Given the description of an element on the screen output the (x, y) to click on. 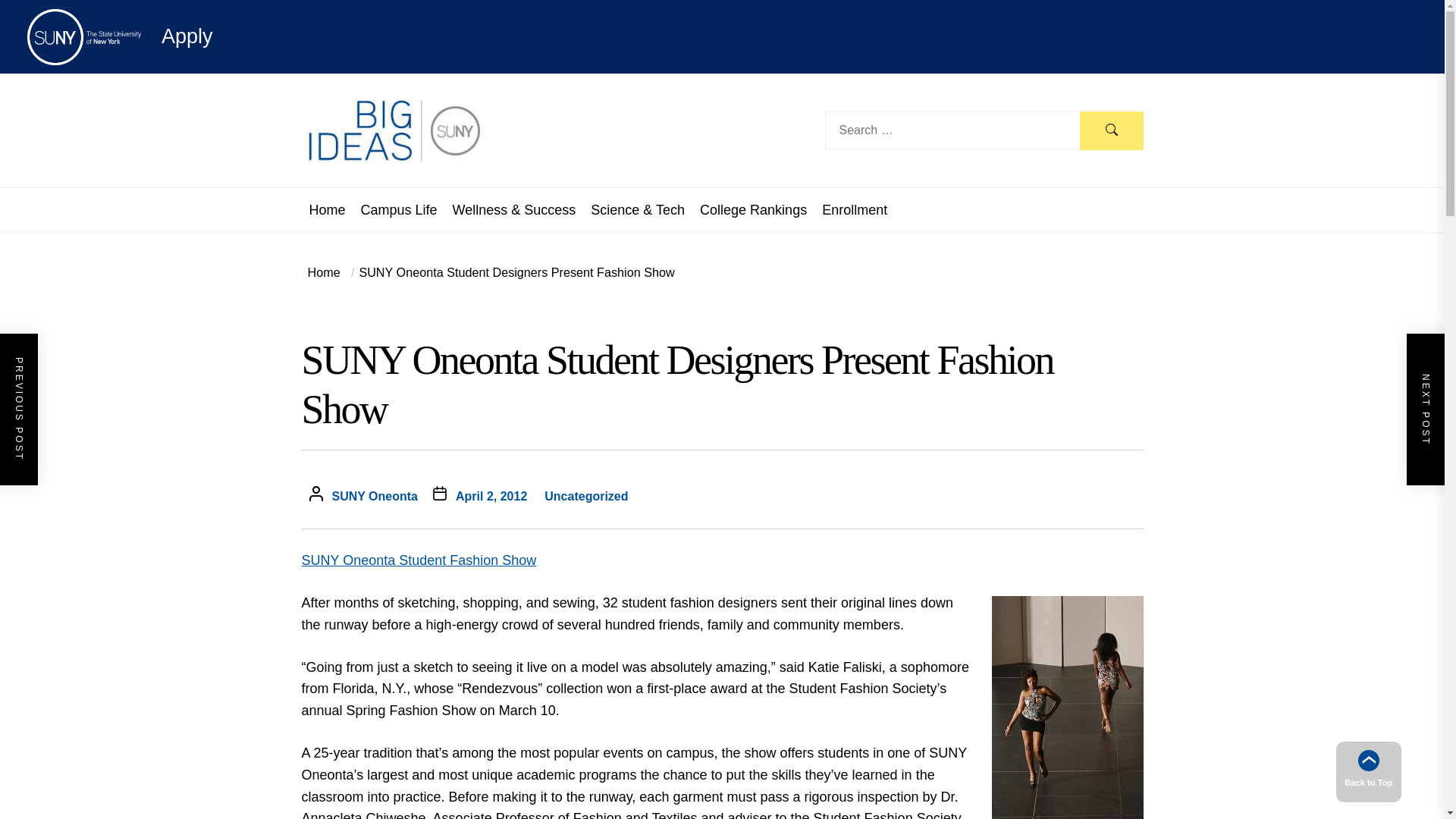
Campus Life (399, 210)
College Rankings (753, 210)
April 2, 2012 (491, 495)
SUNY Oneonta Student Designers Present Fashion Show (510, 272)
Enrollment (854, 210)
Home (323, 272)
Home (327, 210)
Uncategorized (585, 495)
SUNY Oneonta (375, 495)
SUNY Oneonta Student Fashion Show (419, 560)
Apply (139, 36)
